Given the description of an element on the screen output the (x, y) to click on. 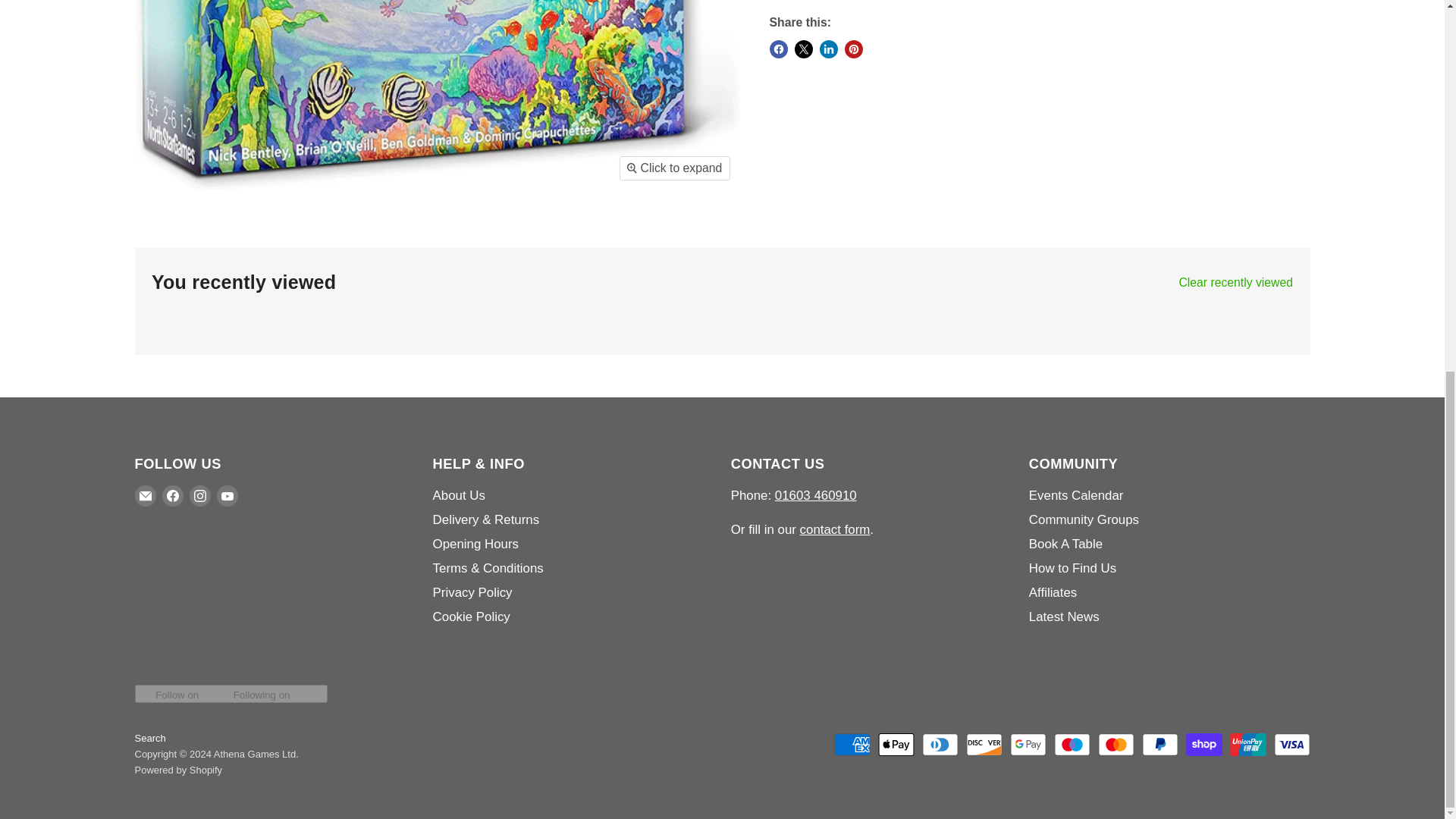
Contact Us (834, 529)
Facebook (172, 495)
Instagram (200, 495)
Email (145, 495)
YouTube (227, 495)
tel:01603 460910 (815, 495)
